Given the description of an element on the screen output the (x, y) to click on. 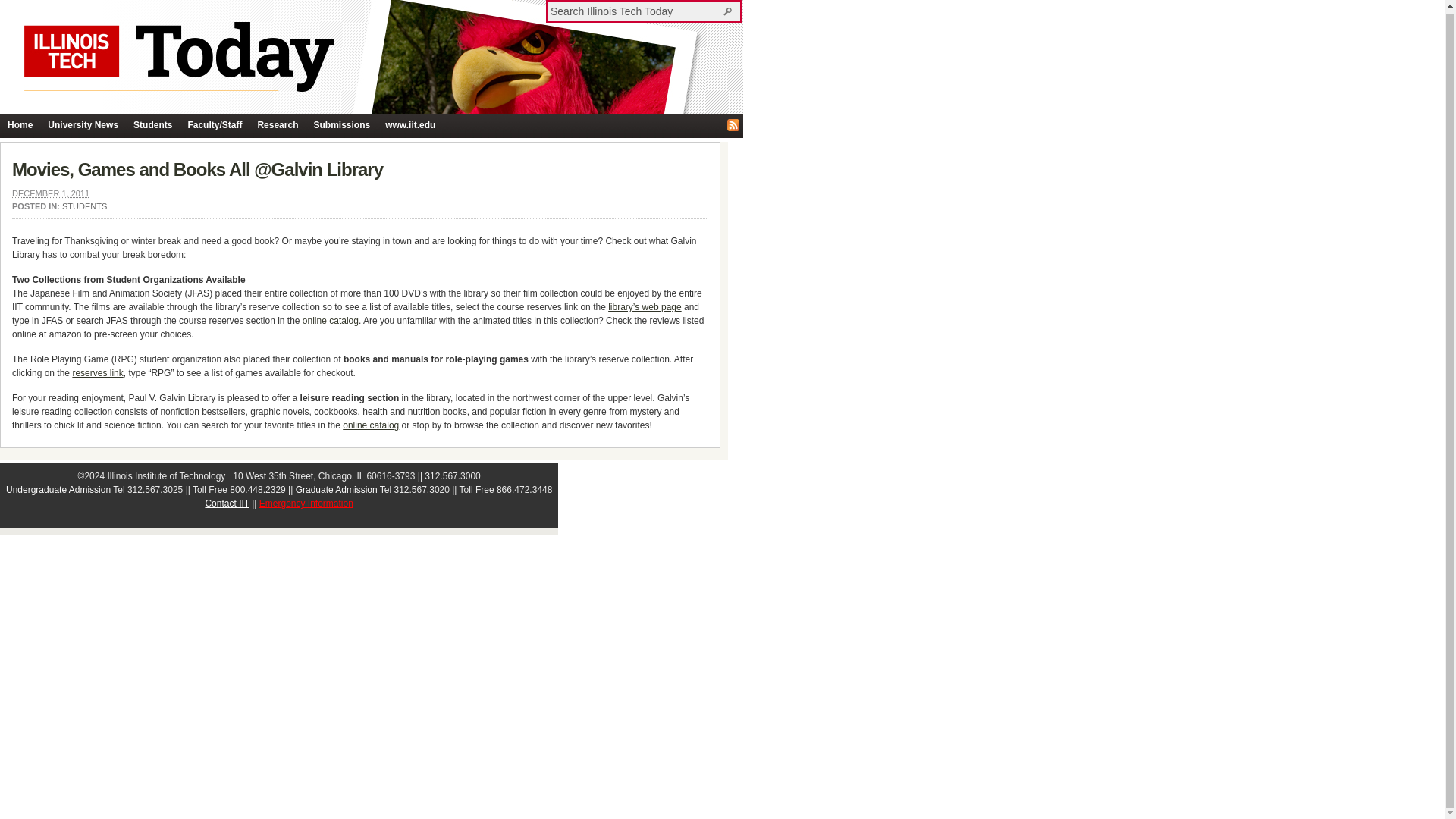
STUDENTS (84, 205)
online catalog (330, 320)
2011-12-01T12:19:55-06:00 (49, 193)
Students (152, 125)
Research (276, 125)
Contact IIT (226, 502)
Search Illinois Tech Today (636, 10)
RSS Feed (732, 124)
Undergraduate Admission (57, 489)
Emergency Information (306, 502)
